Given the description of an element on the screen output the (x, y) to click on. 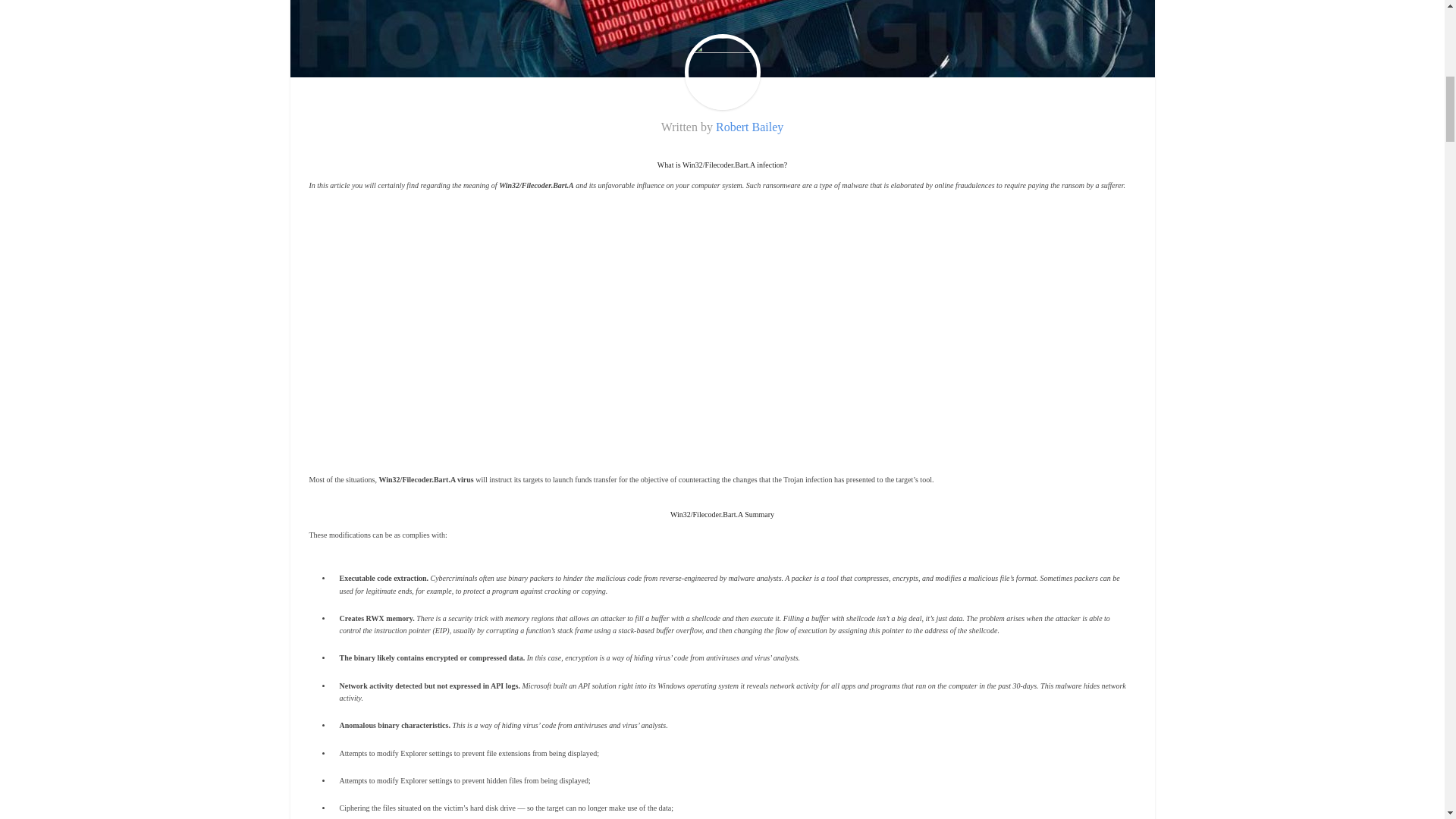
Robert Bailey (749, 126)
